Given the description of an element on the screen output the (x, y) to click on. 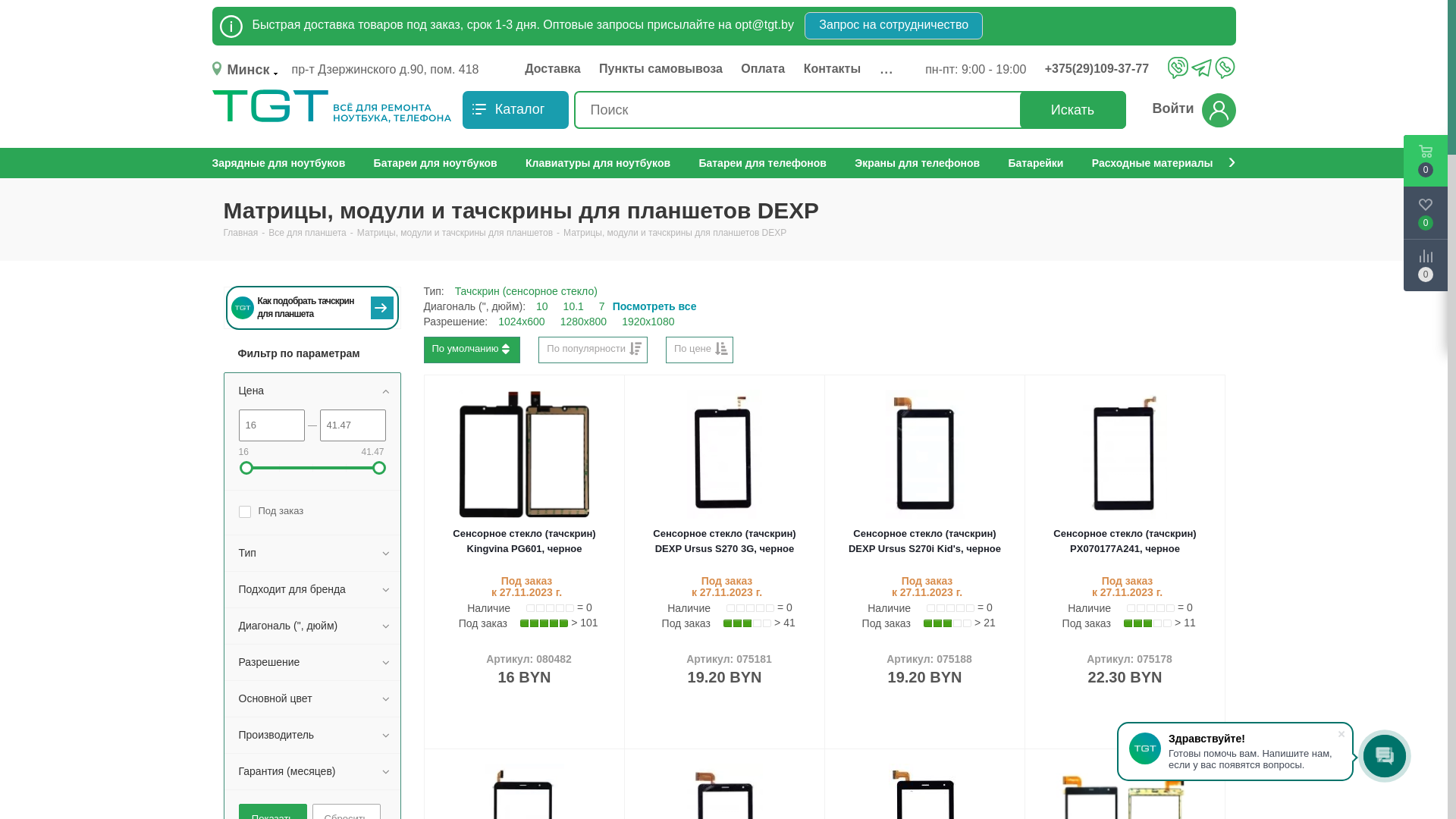
opt@tgt.by Element type: text (763, 24)
viber Element type: hover (1177, 67)
7 Element type: text (602, 306)
HDD / SSD Element type: text (239, 162)
+375(29)109-37-77 Element type: text (1104, 68)
whatsapp Element type: hover (1224, 67)
Y Element type: text (4, 4)
1920x1080 Element type: text (647, 321)
10.1 Element type: text (573, 306)
+375(29)109-37-77 Element type: text (1100, 68)
1024x600 Element type: text (521, 321)
10 Element type: text (542, 306)
1280x800 Element type: text (583, 321)
telegram Element type: hover (1201, 68)
